Given the description of an element on the screen output the (x, y) to click on. 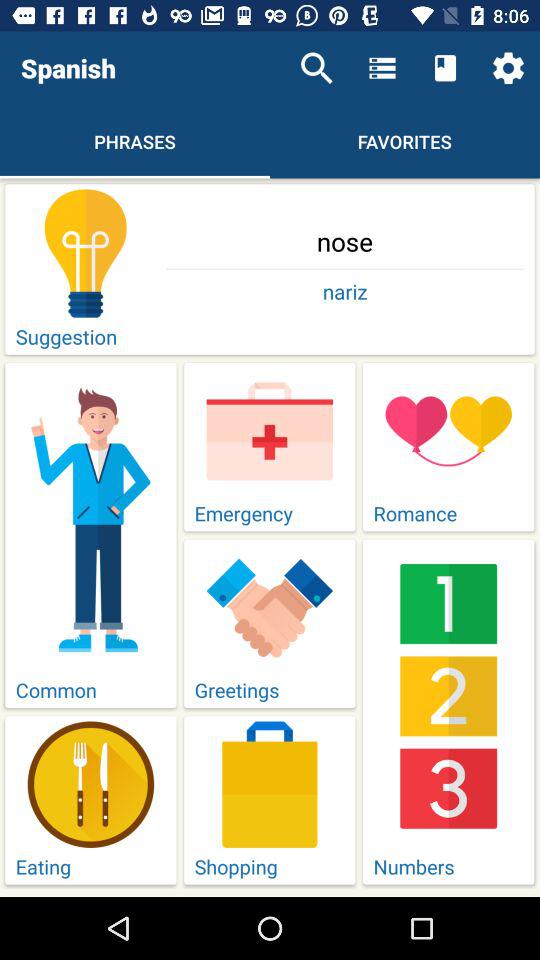
launch the item above nose icon (508, 67)
